Given the description of an element on the screen output the (x, y) to click on. 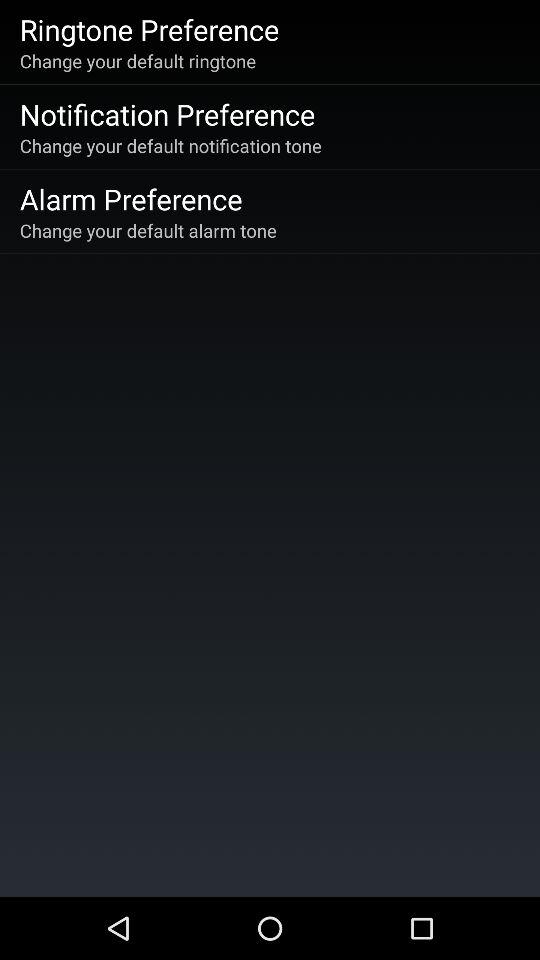
jump until the ringtone preference item (149, 29)
